Given the description of an element on the screen output the (x, y) to click on. 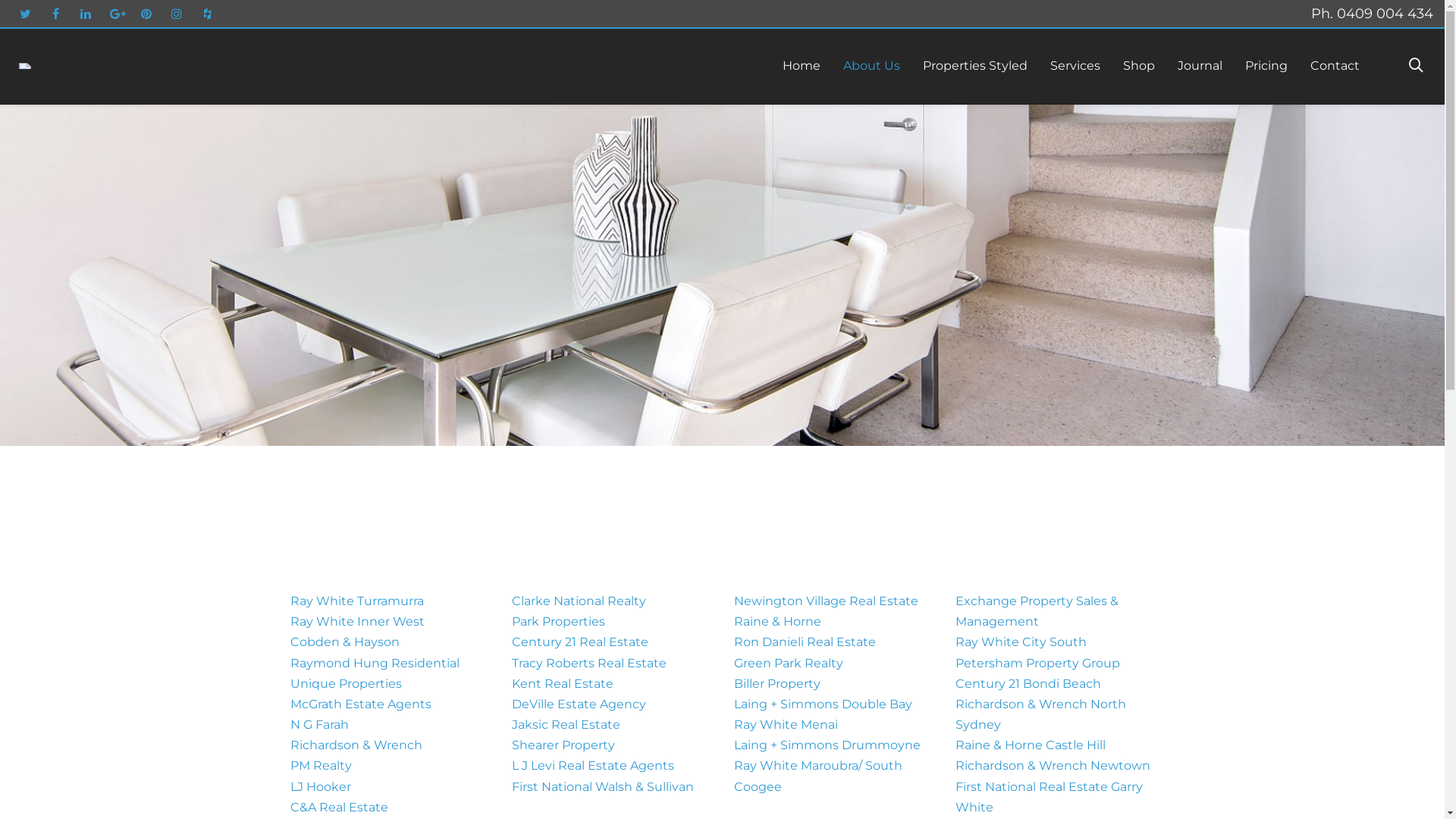
Clarke National Realty Element type: text (578, 600)
Laing + Simmons Drummoyne Element type: text (827, 744)
Shop Element type: text (1138, 65)
Richardson & Wrench North Sydney Element type: text (1040, 713)
Properties Styled Element type: text (974, 65)
Services Element type: text (1074, 65)
Home Element type: text (801, 65)
Exchange Property Sales & Management Element type: text (1036, 610)
Green Park Realty Element type: text (788, 662)
C&A Real Estate Element type: text (338, 807)
Contact Element type: text (1335, 65)
Petersham Property Group Element type: text (1037, 662)
Park Properties Element type: text (558, 621)
Ray White Menai Element type: text (785, 724)
DeVille Estate Agency Element type: text (578, 703)
Century 21 Real Estate Element type: text (579, 641)
Unique Properties Element type: text (345, 683)
Journal Element type: text (1199, 65)
L J Levi Real Estate Agents Element type: text (592, 765)
Raine & Horne Element type: text (777, 621)
Ray White Maroubra/ South Coogee Element type: text (818, 775)
Cobden & Hayson Element type: text (343, 641)
Pricing Element type: text (1266, 65)
Shearer Property Element type: text (563, 744)
Newington Village Real Estate Element type: text (826, 600)
Richardson & Wrench Newtown Element type: text (1052, 765)
Raymond Hung Residential Element type: text (373, 662)
First National Walsh & Sullivan  Element type: text (603, 786)
Biller Property Element type: text (777, 683)
PM Realty Element type: text (320, 765)
LJ Hooker Element type: text (319, 786)
Raine & Horne Castle Hill Element type: text (1030, 744)
McGrath Estate Agents Element type: text (359, 703)
Jaksic Real Estate Element type: text (565, 724)
Ron Danieli Real Estate Element type: text (804, 641)
Century 21 Bondi Beach Element type: text (1028, 683)
Kent Real Estate Element type: text (562, 683)
Tracy Roberts Real Estate Element type: text (588, 662)
Ray White Turramurra Element type: text (356, 600)
N G Farah Element type: text (318, 724)
First National Real Estate Garry White Element type: text (1048, 796)
Laing + Simmons Double Bay Element type: text (823, 703)
Ray White City South Element type: text (1020, 641)
About Us Element type: text (871, 65)
Richardson & Wrench Element type: text (355, 744)
Ray White Inner West Element type: text (356, 621)
